Given the description of an element on the screen output the (x, y) to click on. 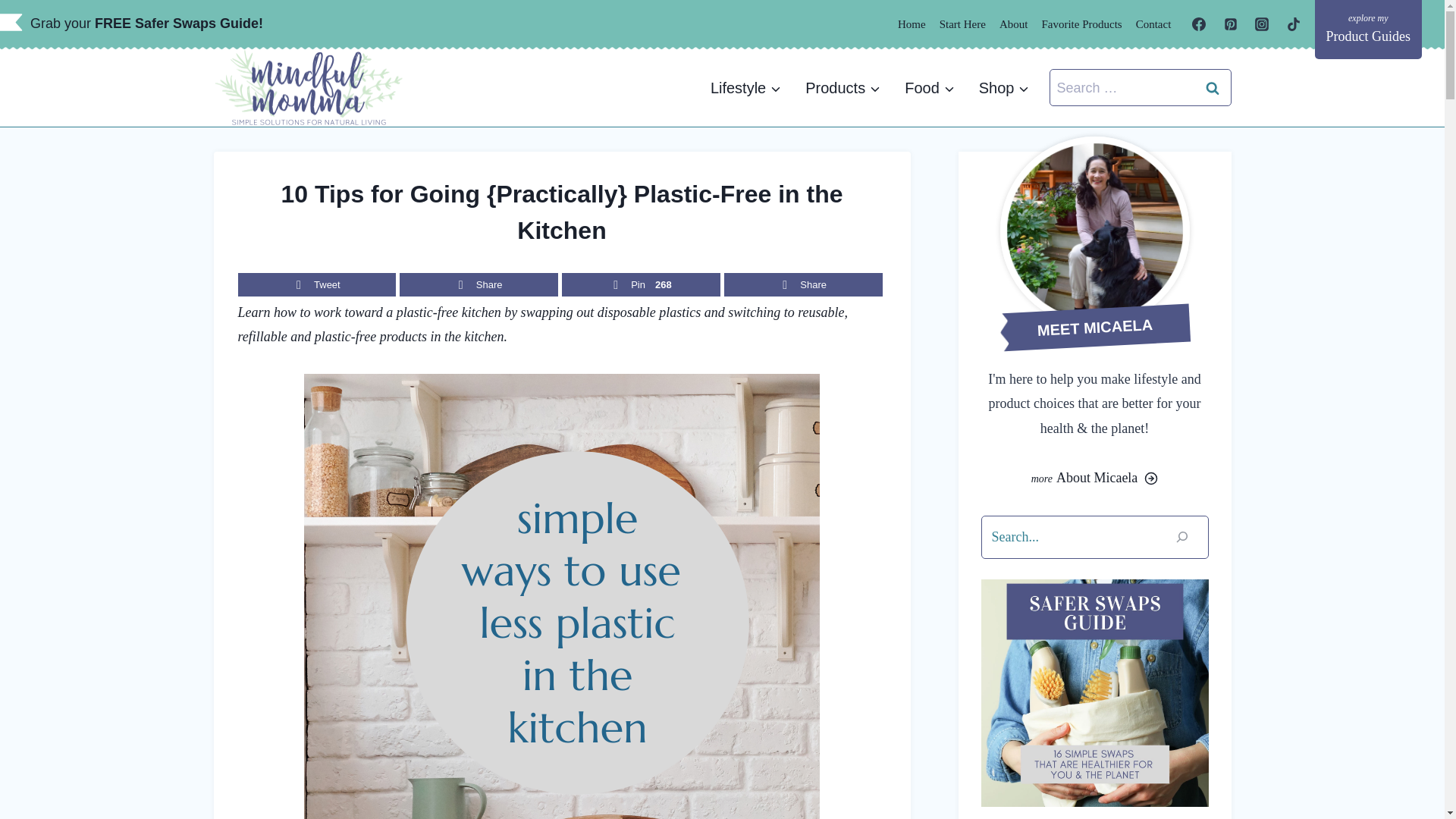
Start Here (962, 24)
Favorite Products (1080, 24)
Home (912, 24)
FREE Safer Swaps Guide (176, 23)
Search (1212, 87)
Search (1212, 87)
Products (842, 87)
Product Guides (1368, 29)
Contact (1153, 24)
Shop (1004, 87)
